Given the description of an element on the screen output the (x, y) to click on. 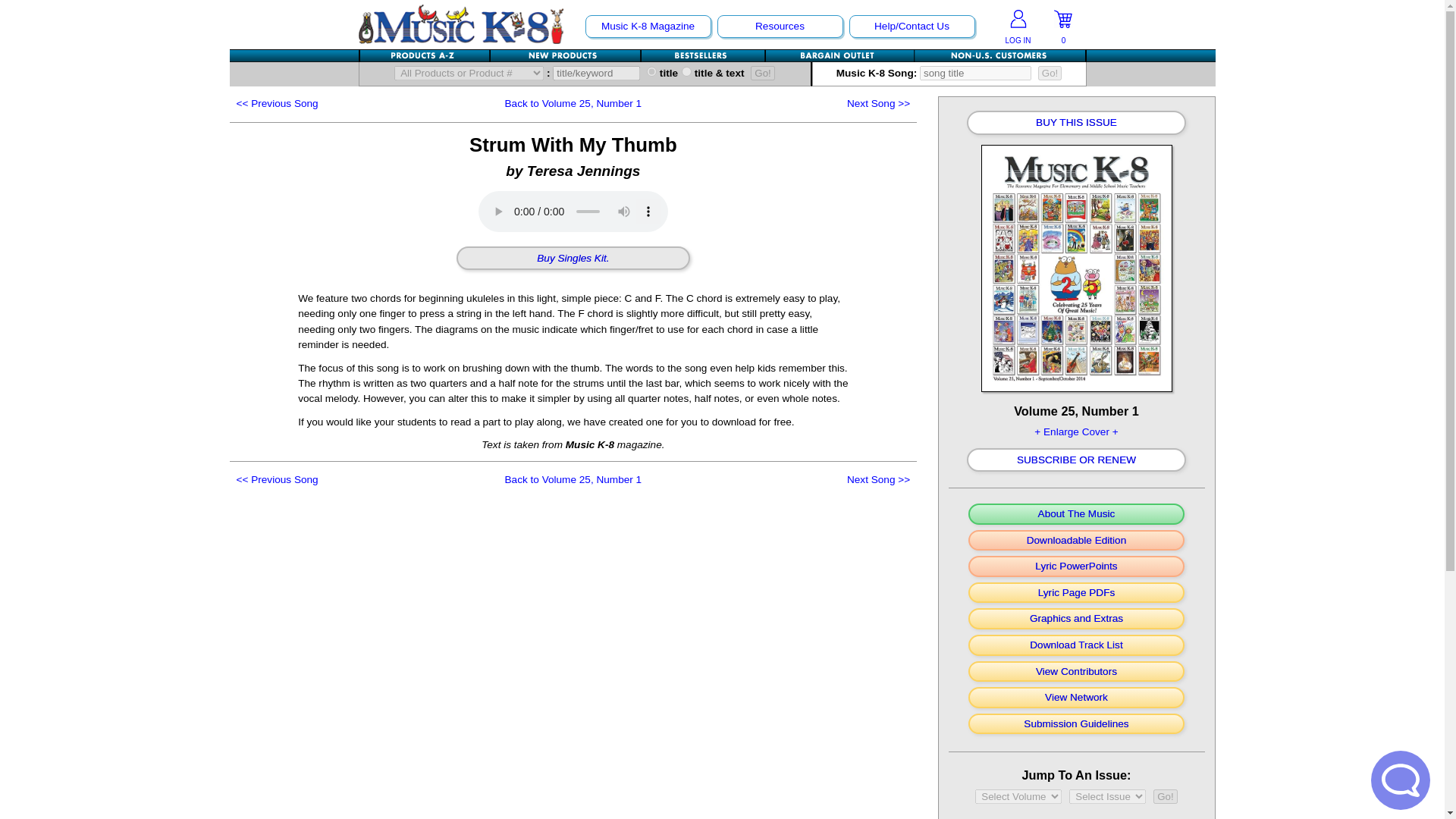
New Products (564, 55)
Alphabetical Listing (424, 55)
title (651, 71)
both (686, 71)
Go! (1164, 796)
Music K-8 Magazine (647, 26)
Go! (762, 73)
MusicK8.com Worldwide (999, 55)
Bargain Outlet (839, 55)
Bestsellers (703, 55)
Go! (1049, 73)
